Given the description of an element on the screen output the (x, y) to click on. 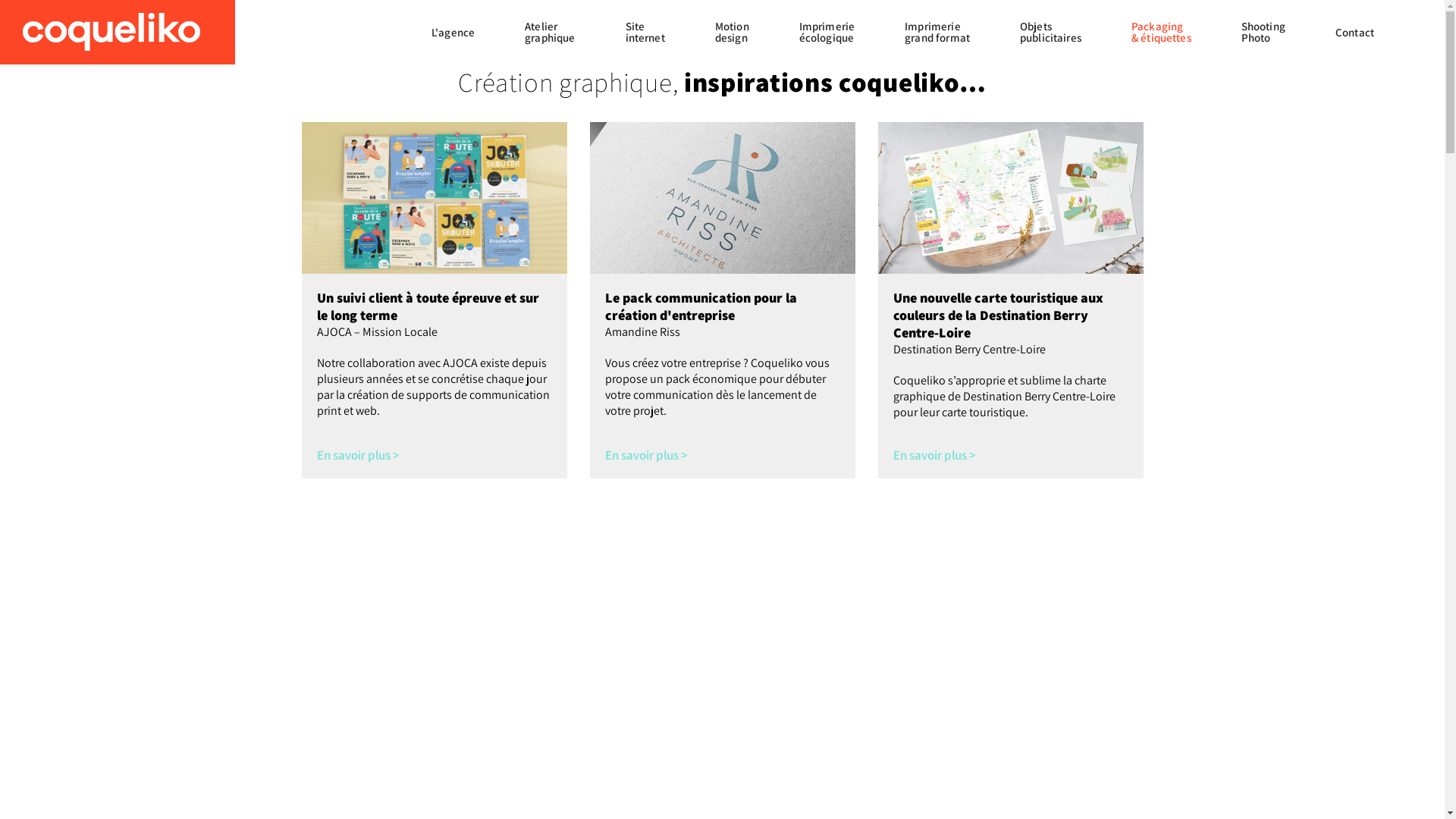
Shooting
Photo Element type: text (1263, 31)
En savoir plus > Element type: text (934, 454)
En savoir plus > Element type: text (646, 454)
En savoir plus > Element type: text (357, 454)
Contact Element type: text (1354, 31)
